Given the description of an element on the screen output the (x, y) to click on. 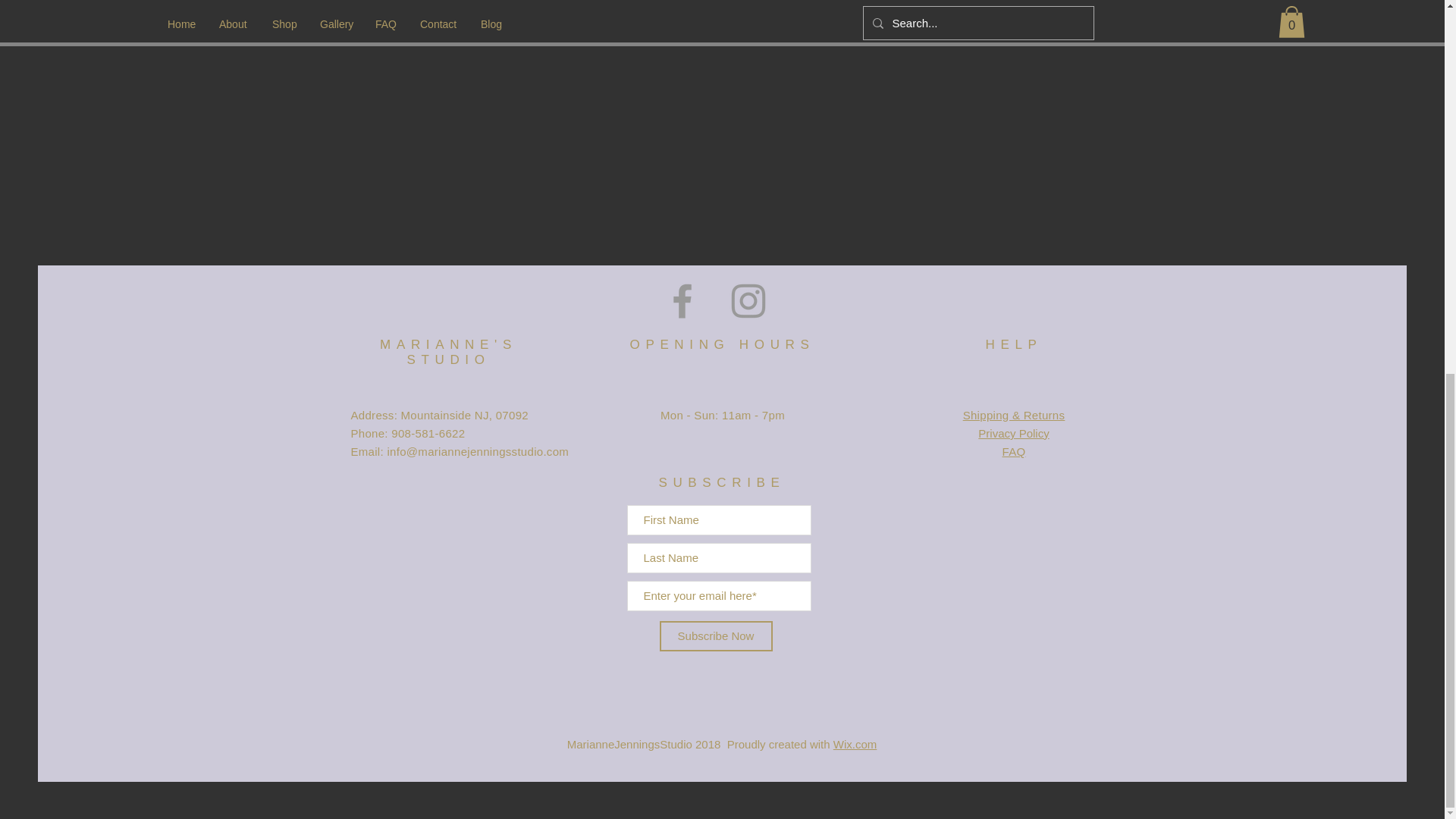
Privacy Policy (1013, 432)
Wix.com (854, 744)
Mon - Sun: 11am - 7pm (722, 423)
Subscribe Now (716, 635)
FAQ (1014, 451)
